Given the description of an element on the screen output the (x, y) to click on. 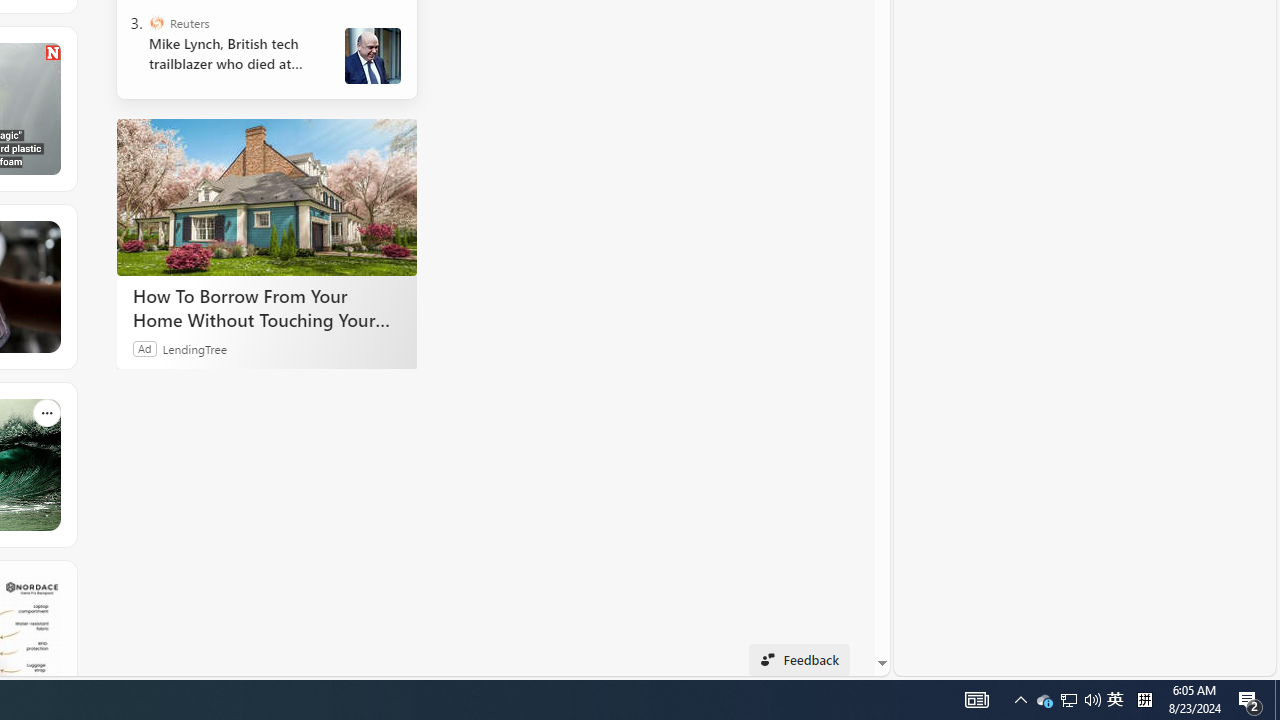
These Cities Are About to Run Out of Clean Drinking Water (136, 286)
Reuters (156, 22)
